Given the description of an element on the screen output the (x, y) to click on. 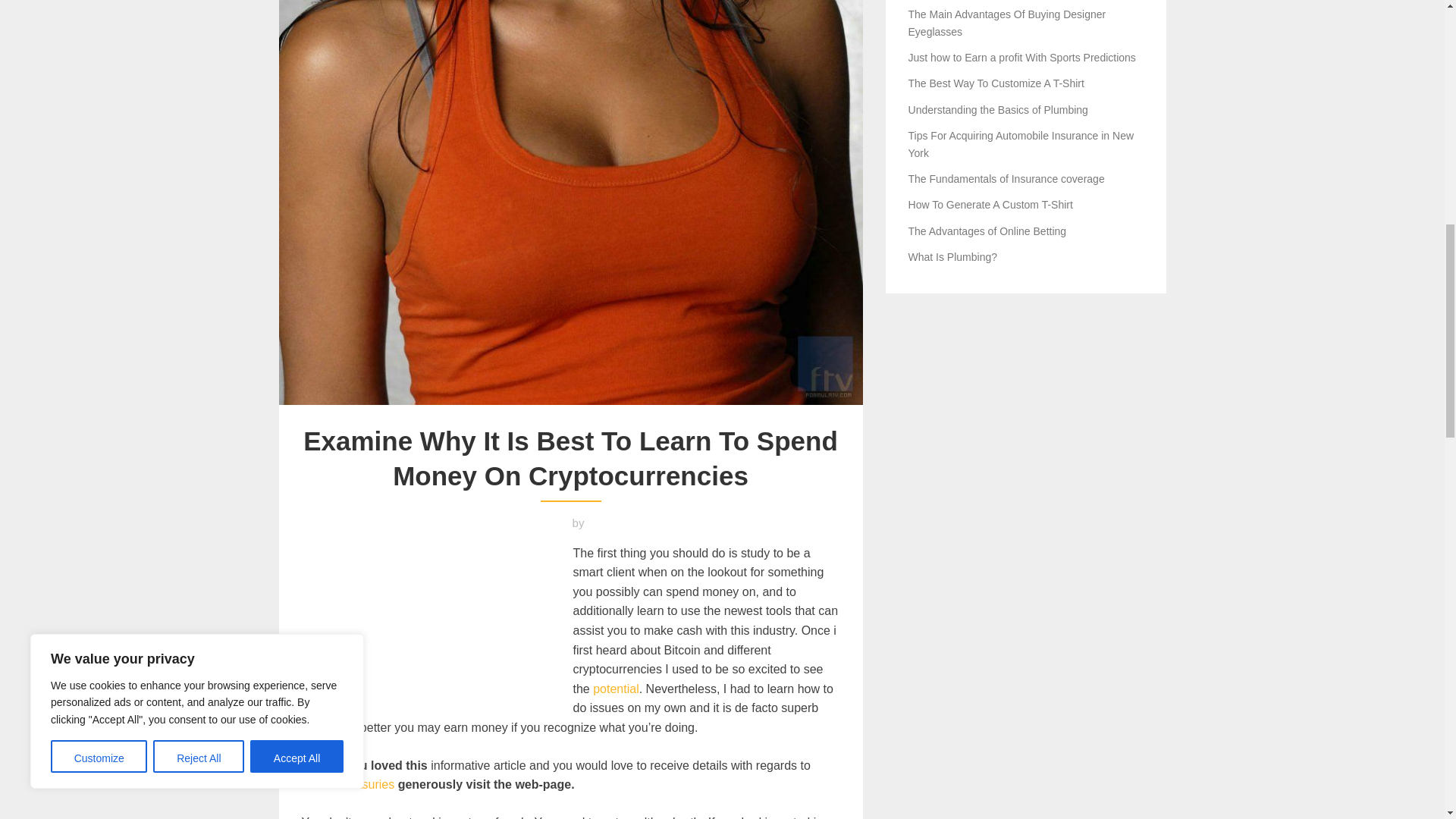
The Main Advantages Of Buying Designer Eyeglasses (1007, 22)
potential (615, 688)
Bitcoin treasuries (347, 784)
